Given the description of an element on the screen output the (x, y) to click on. 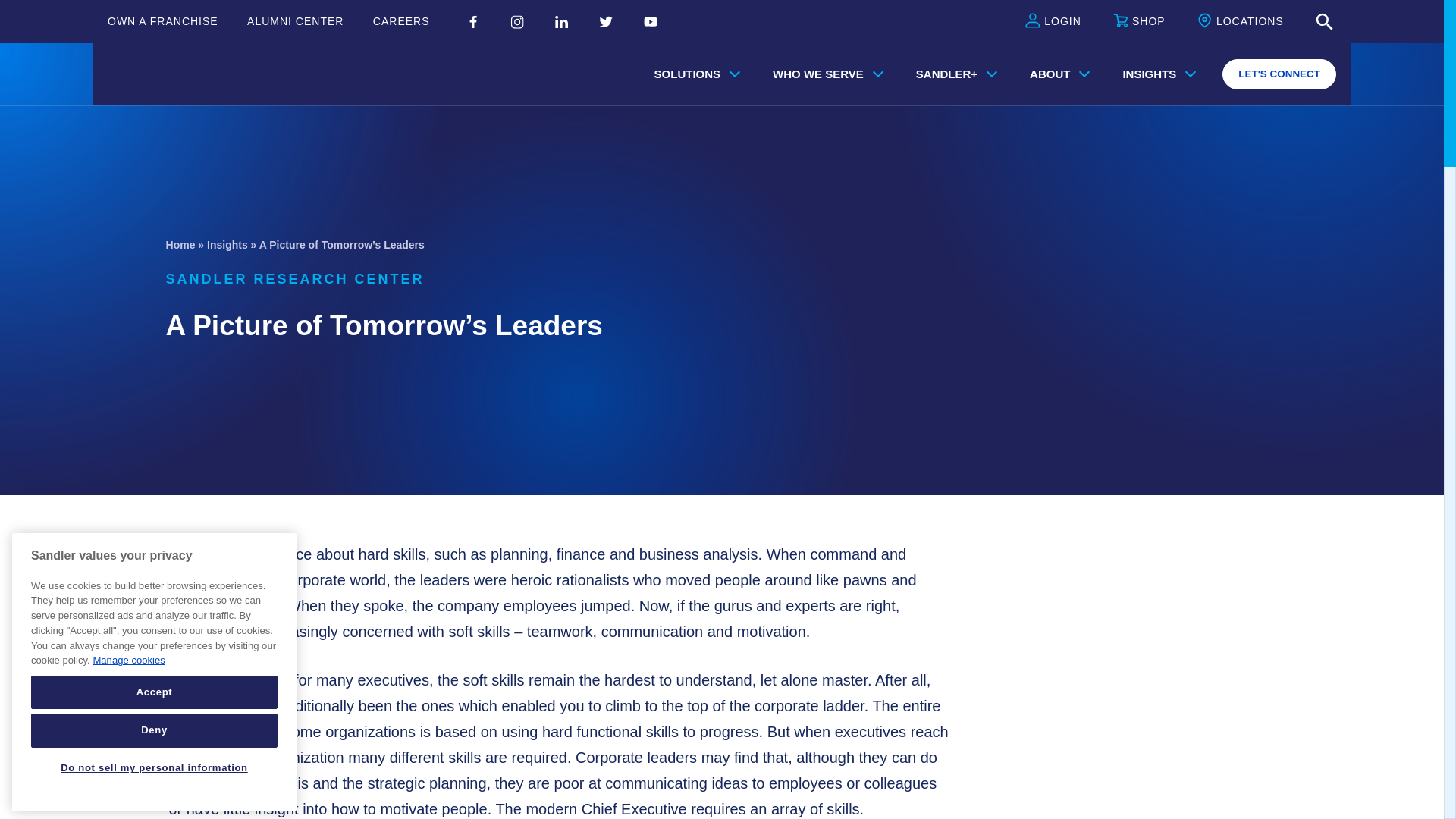
Open Search (1324, 21)
SOLUTIONS (694, 73)
LOGIN (1053, 22)
WHO WE SERVE (824, 73)
ALUMNI CENTER (295, 21)
CAREERS (400, 21)
OWN A FRANCHISE (162, 21)
SHOP (1139, 22)
LOCATIONS (1240, 22)
